Given the description of an element on the screen output the (x, y) to click on. 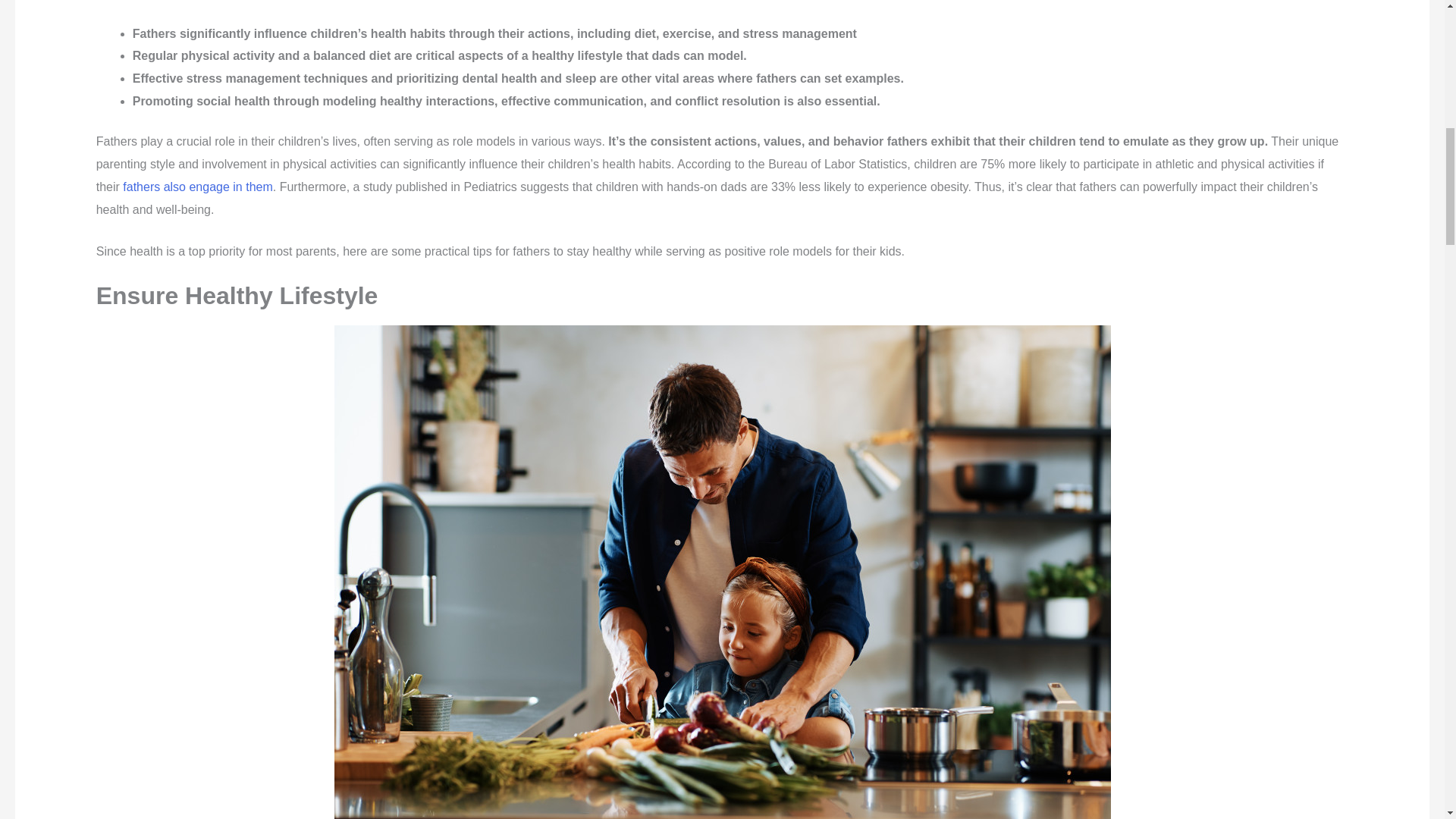
fathers also engage in them (197, 186)
